Given the description of an element on the screen output the (x, y) to click on. 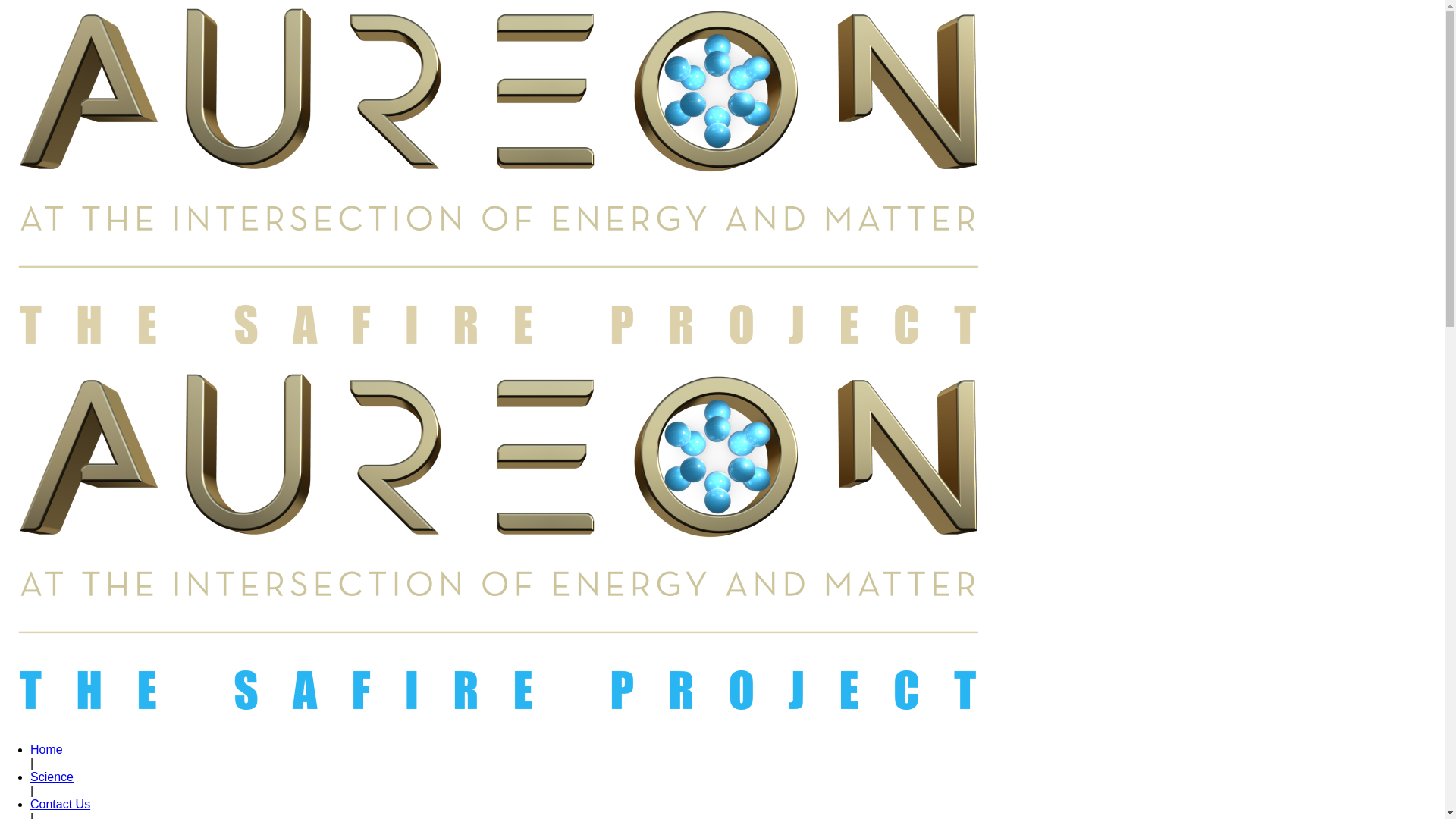
Skip to main content Element type: text (0, 0)
Contact Us Element type: text (60, 803)
Home Element type: text (46, 749)
Science Element type: text (51, 776)
